Given the description of an element on the screen output the (x, y) to click on. 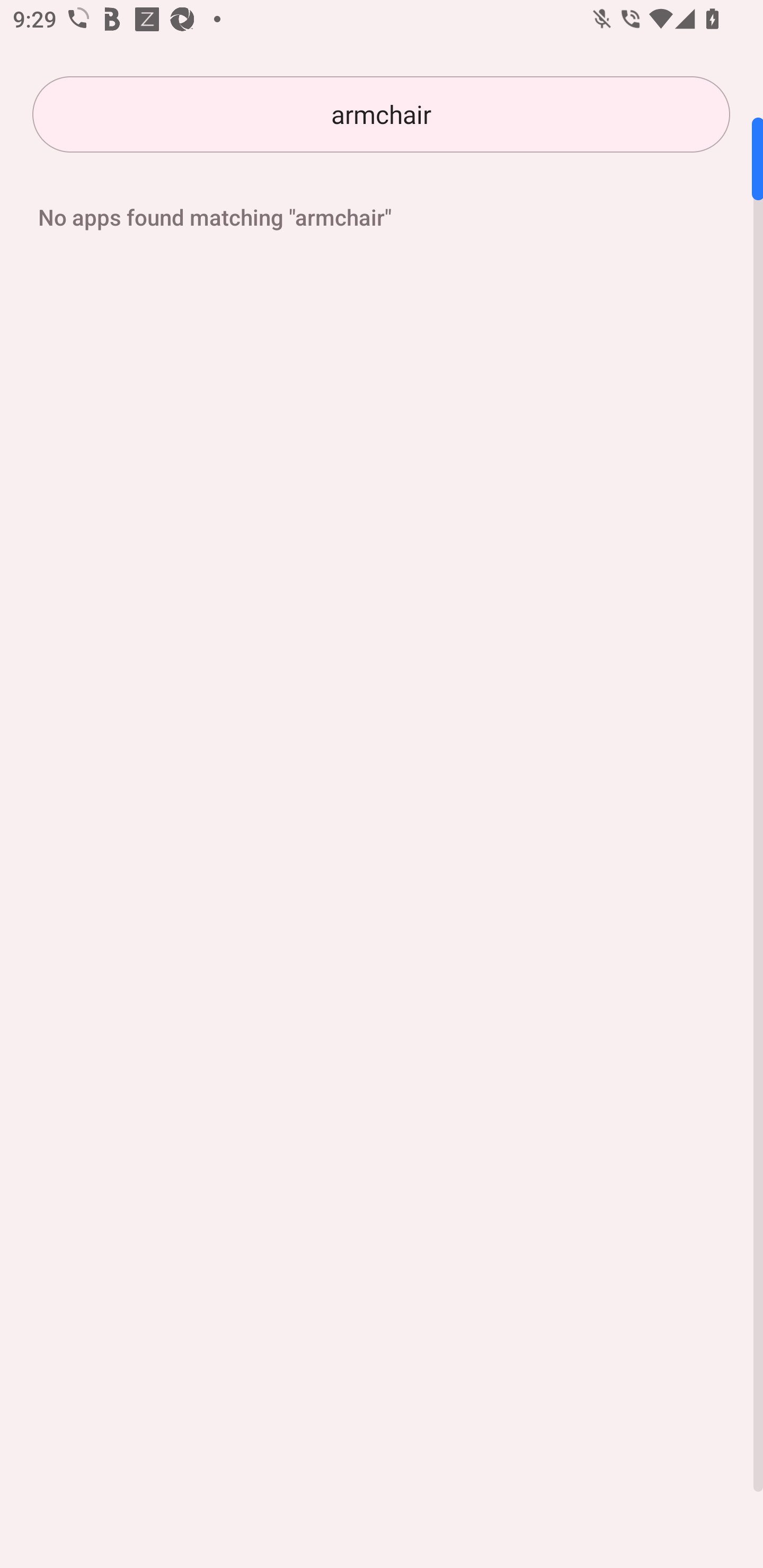
armchair (381, 114)
